Given the description of an element on the screen output the (x, y) to click on. 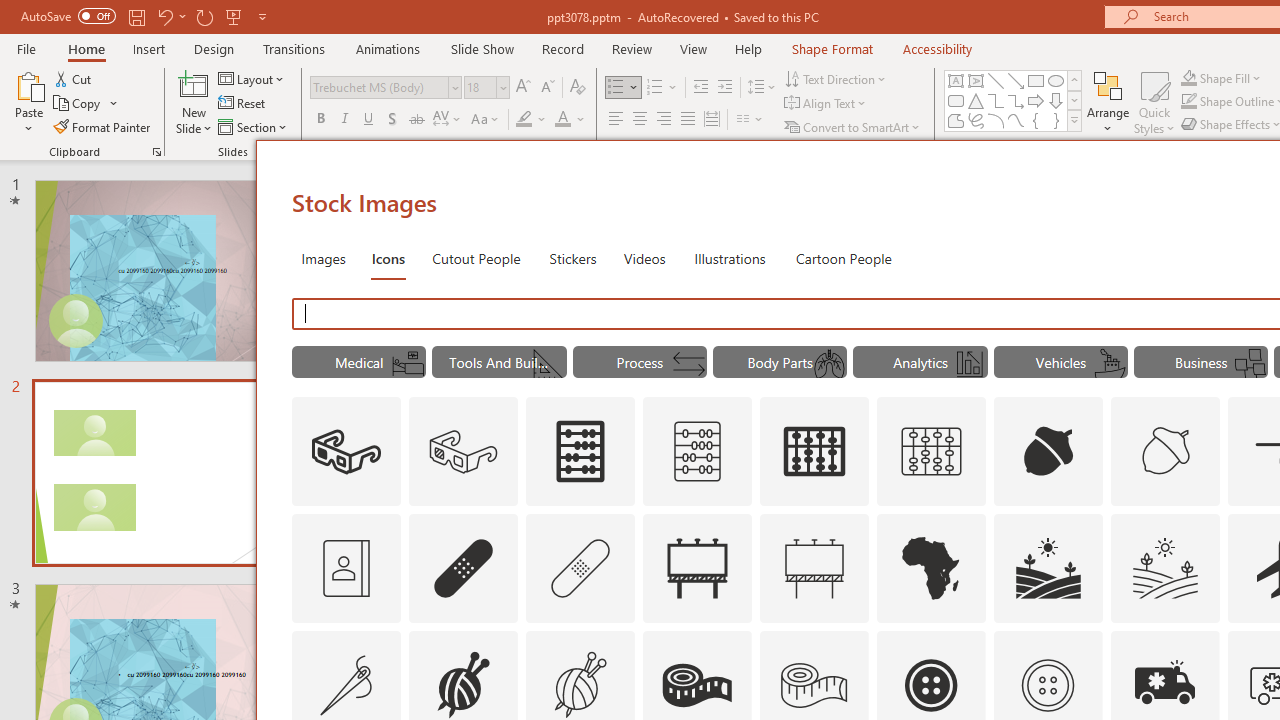
Icons (388, 258)
AutomationID: Icons_Abacus1_M (931, 452)
